Given the description of an element on the screen output the (x, y) to click on. 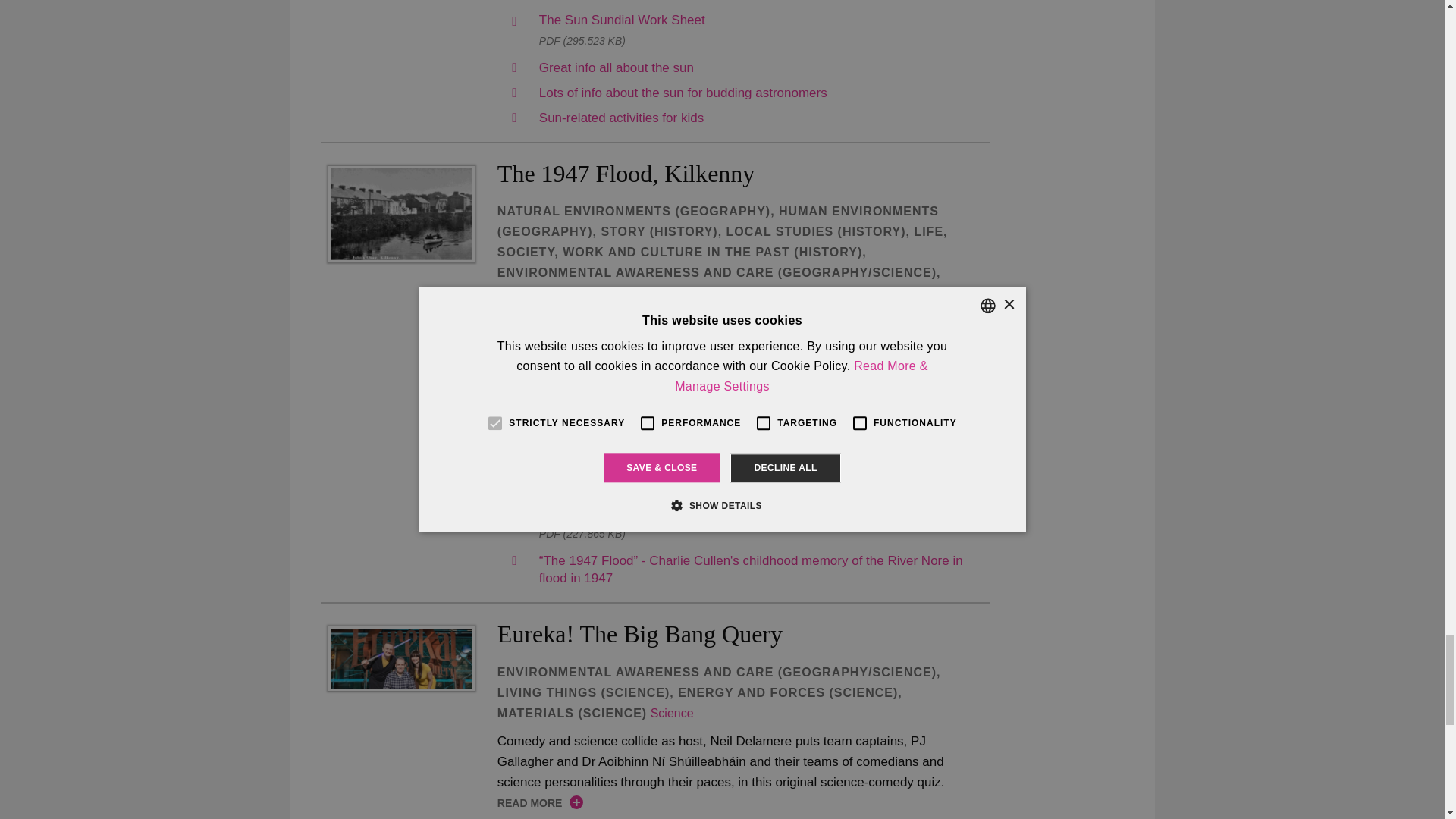
The 1947 Flood, Kilkenny (400, 214)
